Given the description of an element on the screen output the (x, y) to click on. 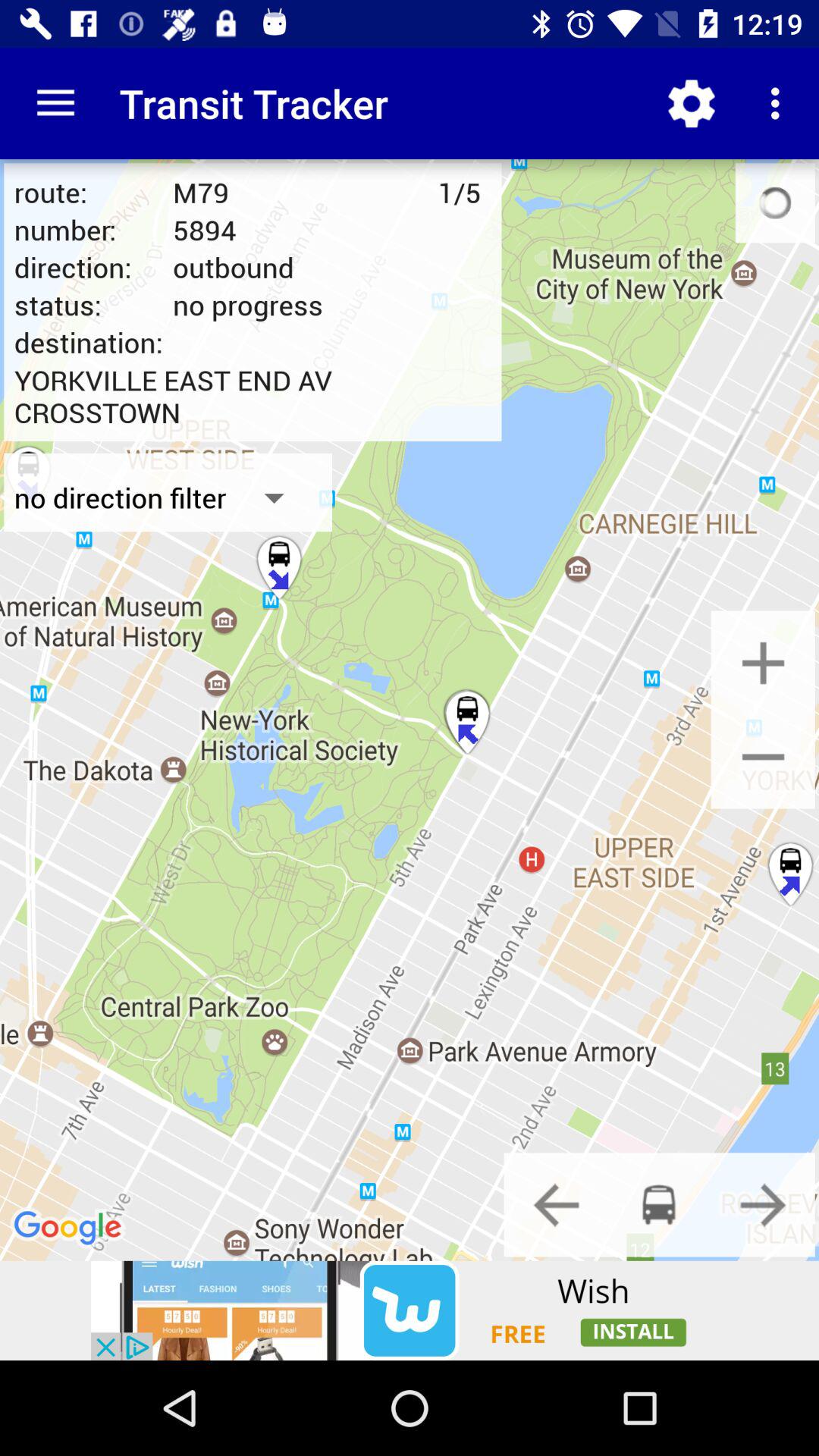
go forward (762, 1204)
